Given the description of an element on the screen output the (x, y) to click on. 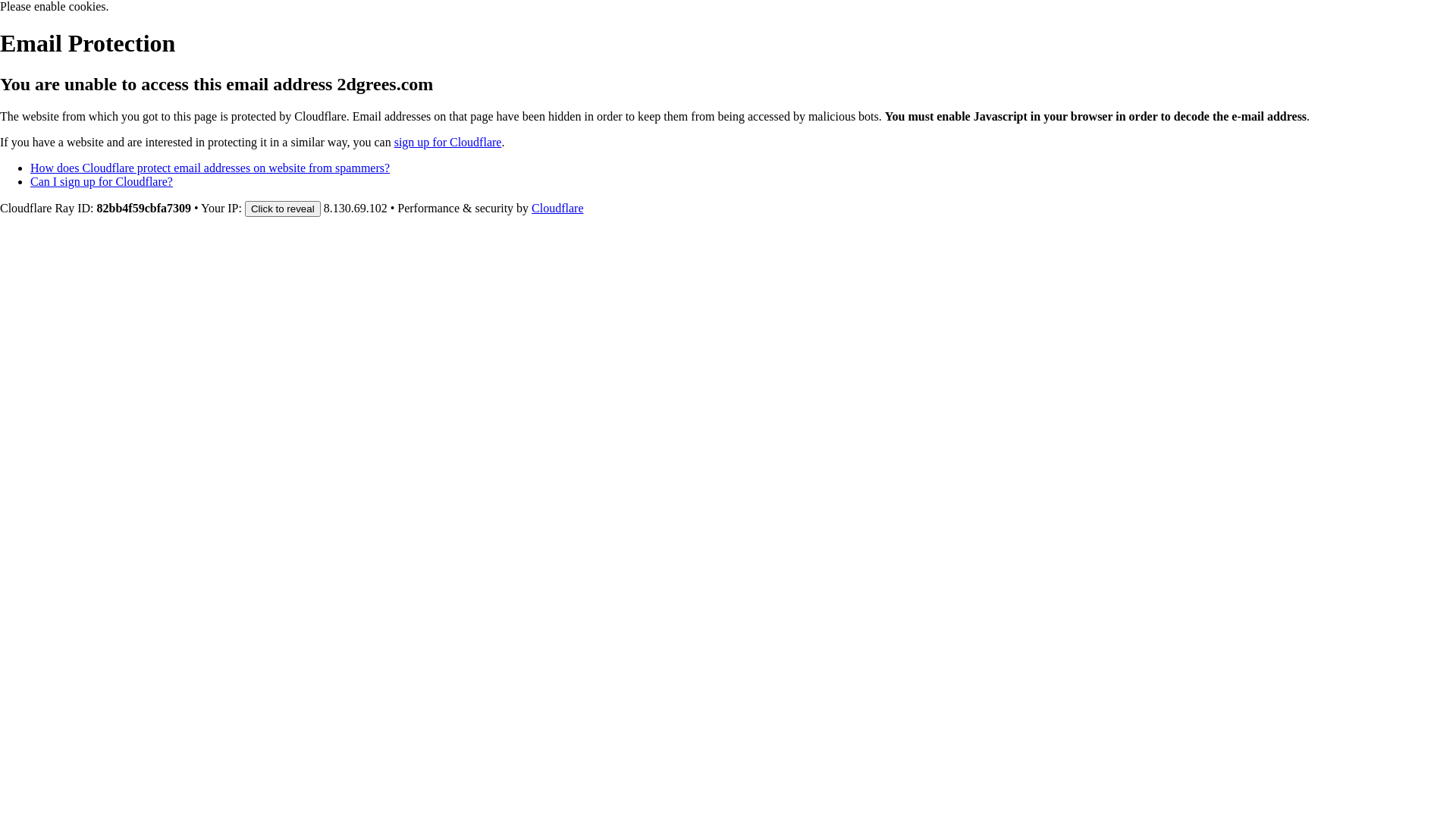
Click to reveal Element type: text (282, 208)
Can I sign up for Cloudflare? Element type: text (101, 181)
Cloudflare Element type: text (557, 207)
sign up for Cloudflare Element type: text (448, 141)
